Given the description of an element on the screen output the (x, y) to click on. 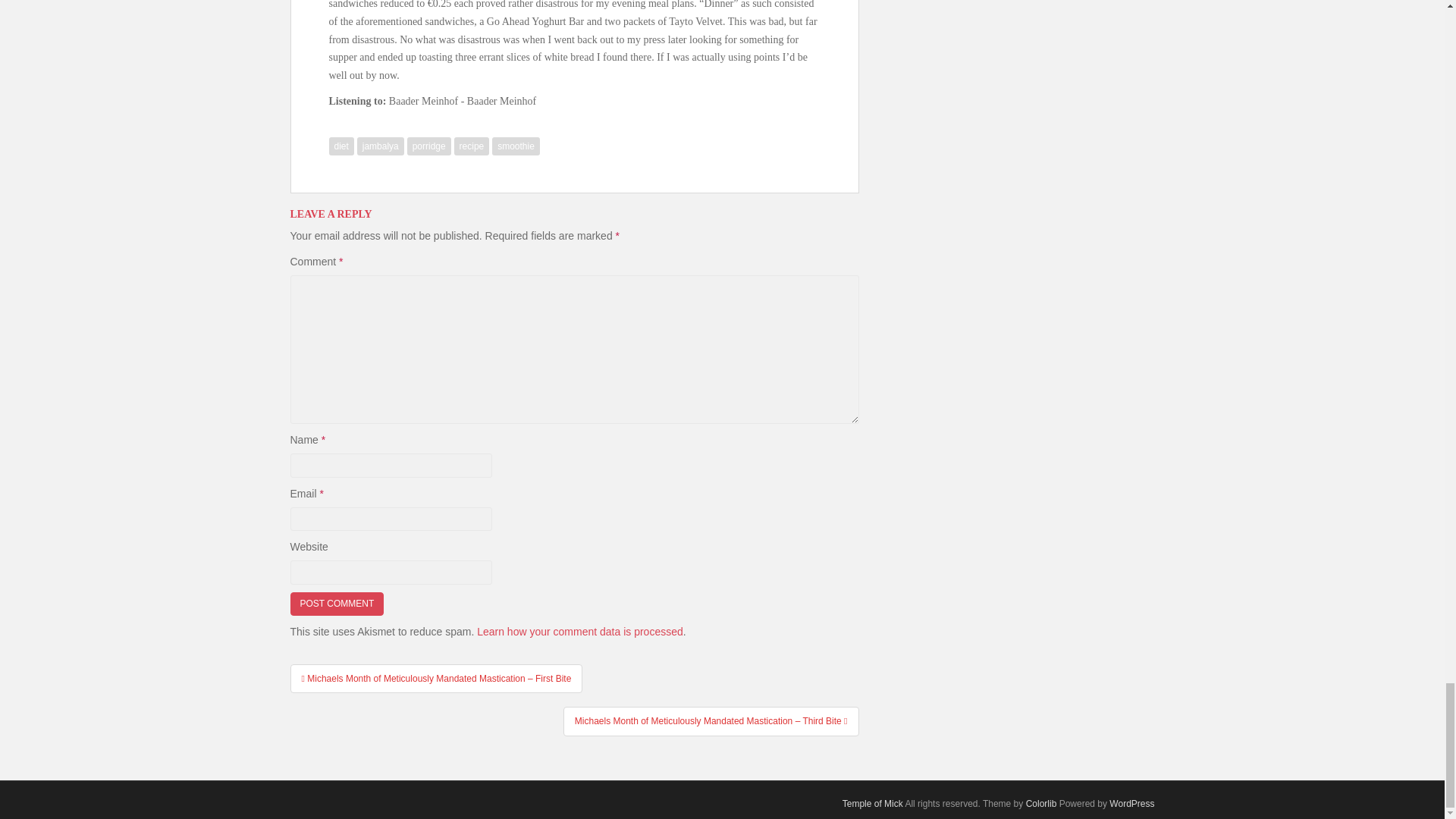
diet (341, 146)
Learn how your comment data is processed (579, 631)
smoothie (516, 146)
jambalya (380, 146)
Post Comment (336, 603)
recipe (471, 146)
Post Comment (336, 603)
porridge (429, 146)
